Given the description of an element on the screen output the (x, y) to click on. 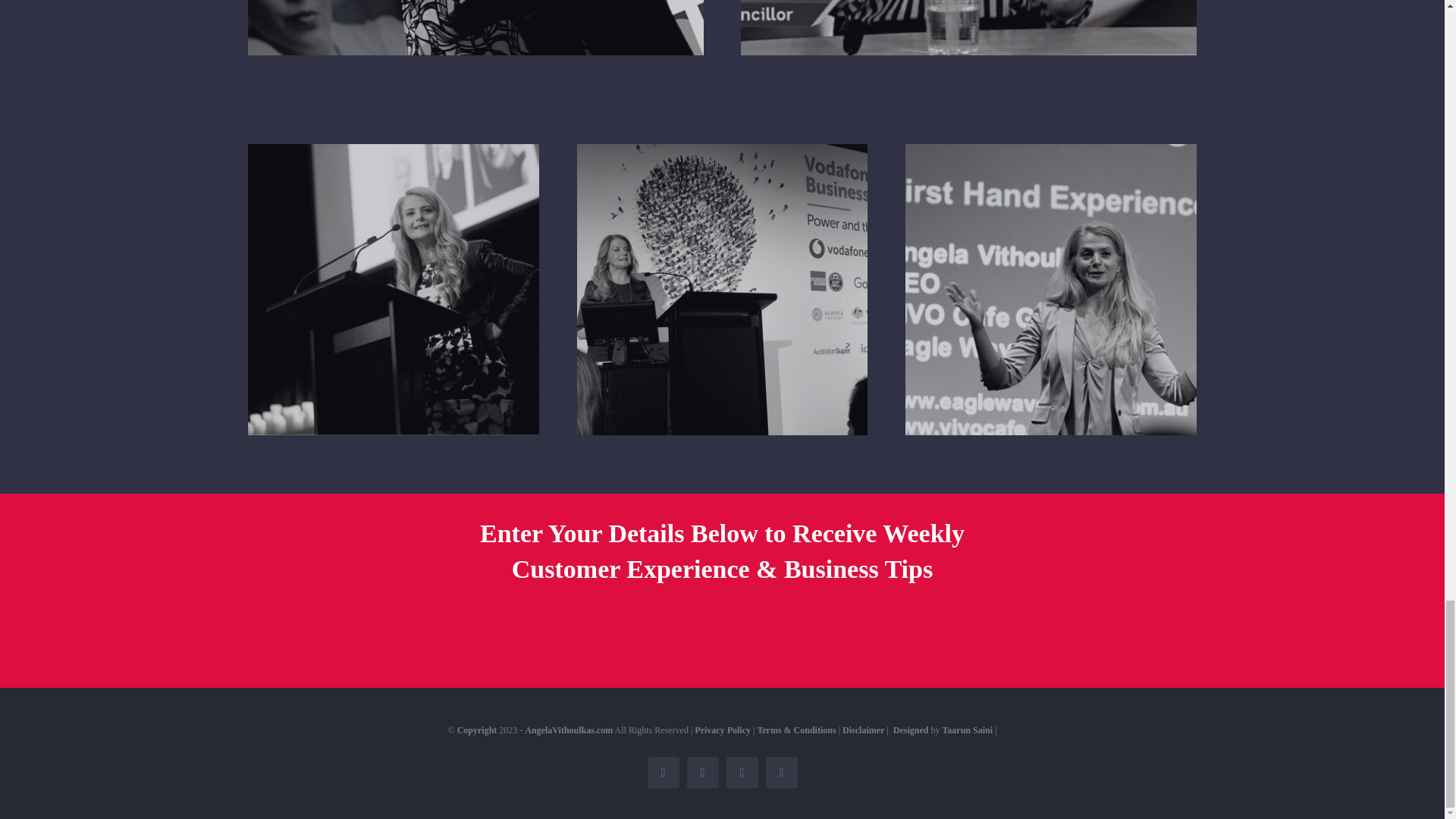
Privacy Policy (722, 729)
Disclaimer (863, 729)
LinkedIn (703, 772)
Facebook (663, 772)
Facebook (663, 772)
Twitter (742, 772)
LinkedIn (703, 772)
Copyright (477, 729)
Instagram (781, 772)
Instagram (781, 772)
Twitter (742, 772)
Taarun Saini (967, 729)
